Given the description of an element on the screen output the (x, y) to click on. 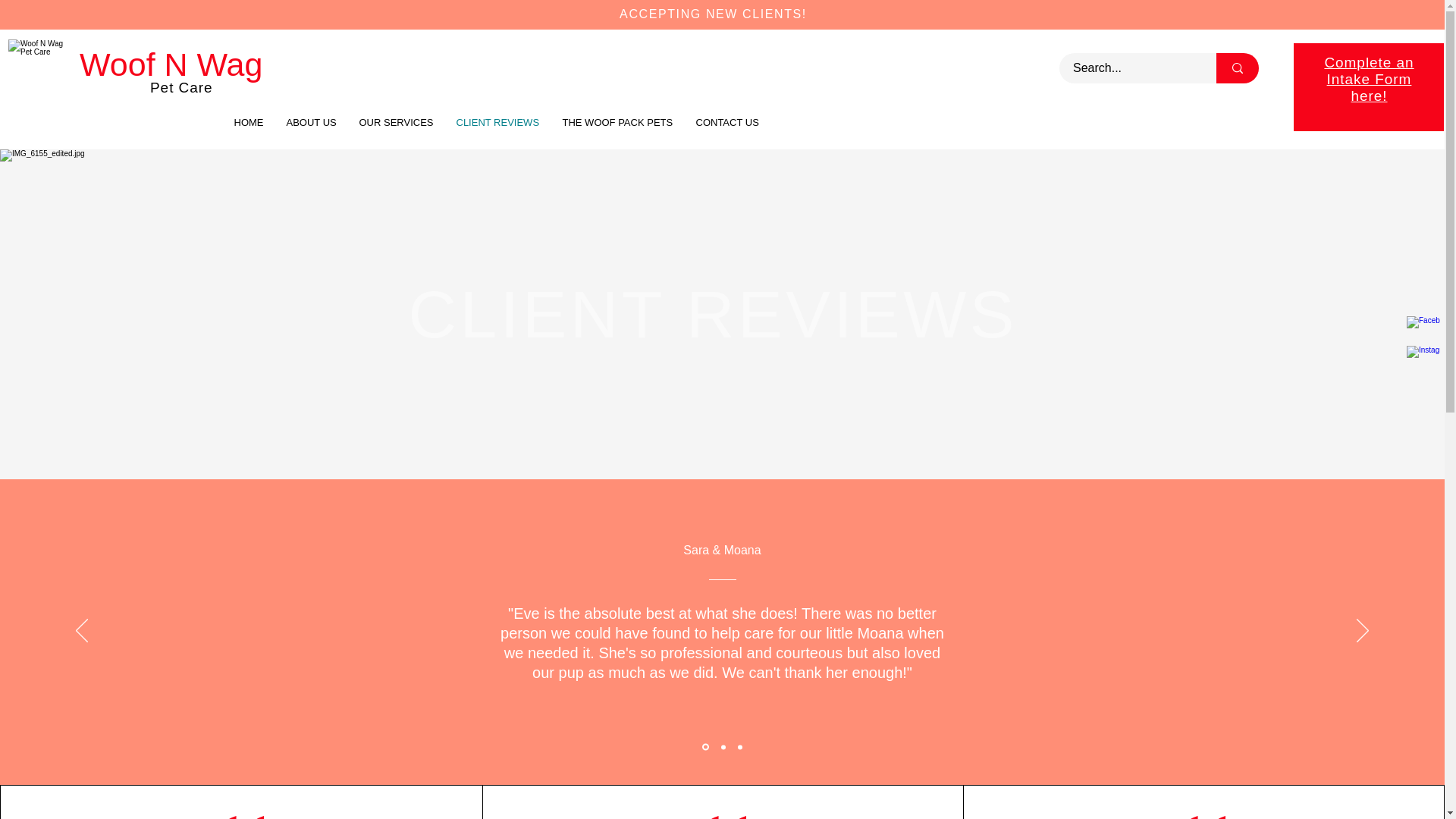
OUR SERVICES (395, 122)
ABOUT US (311, 122)
ACCEPTING NEW CLIENTS! (713, 13)
HOME (248, 122)
Woof N Wag (171, 63)
CLIENT REVIEWS (497, 122)
Pet Care  (182, 87)
CONTACT US (727, 122)
Complete an Intake Form here! (1368, 79)
THE WOOF PACK PETS (617, 122)
